Given the description of an element on the screen output the (x, y) to click on. 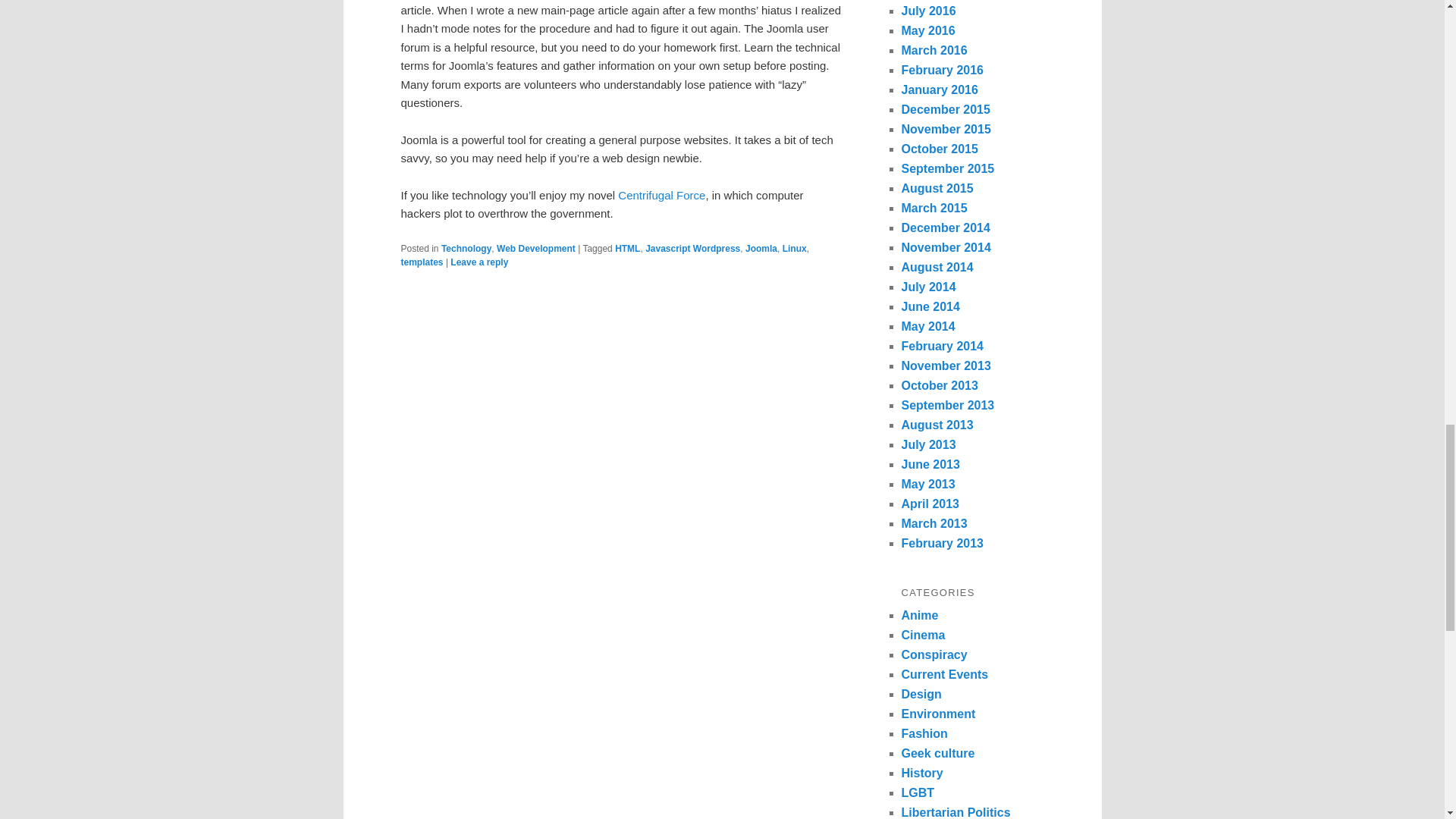
Web Development (535, 248)
Leave a reply (478, 262)
Centrifugal Force (660, 195)
Joomla (761, 248)
templates (421, 262)
Javascript Wordpress (692, 248)
Technology (466, 248)
Linux (794, 248)
HTML (627, 248)
